Given the description of an element on the screen output the (x, y) to click on. 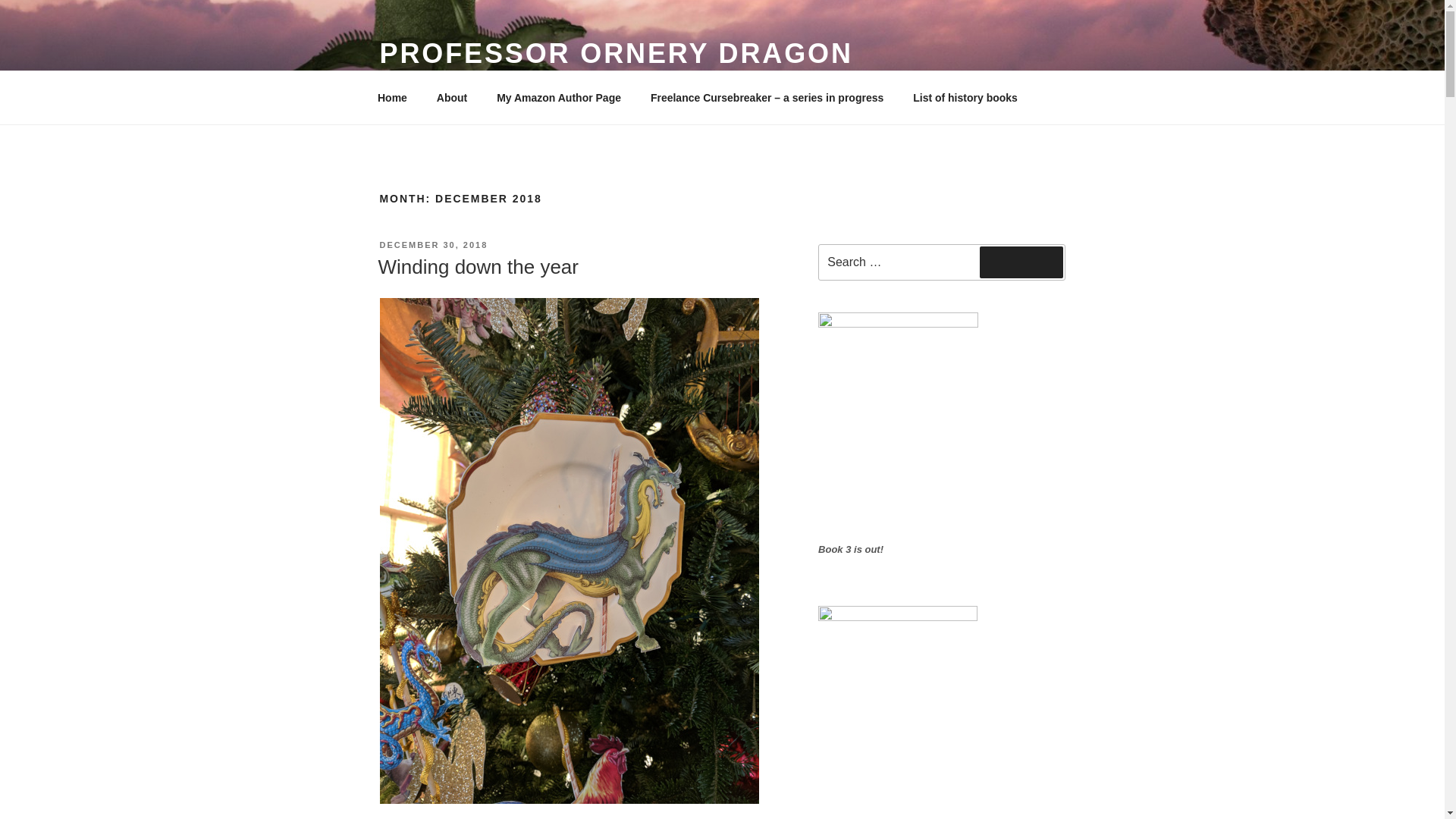
Winding down the year (477, 266)
PROFESSOR ORNERY DRAGON (614, 52)
DECEMBER 30, 2018 (432, 244)
List of history books (964, 97)
Search (1020, 262)
Home (392, 97)
About (451, 97)
My Amazon Author Page (558, 97)
